Given the description of an element on the screen output the (x, y) to click on. 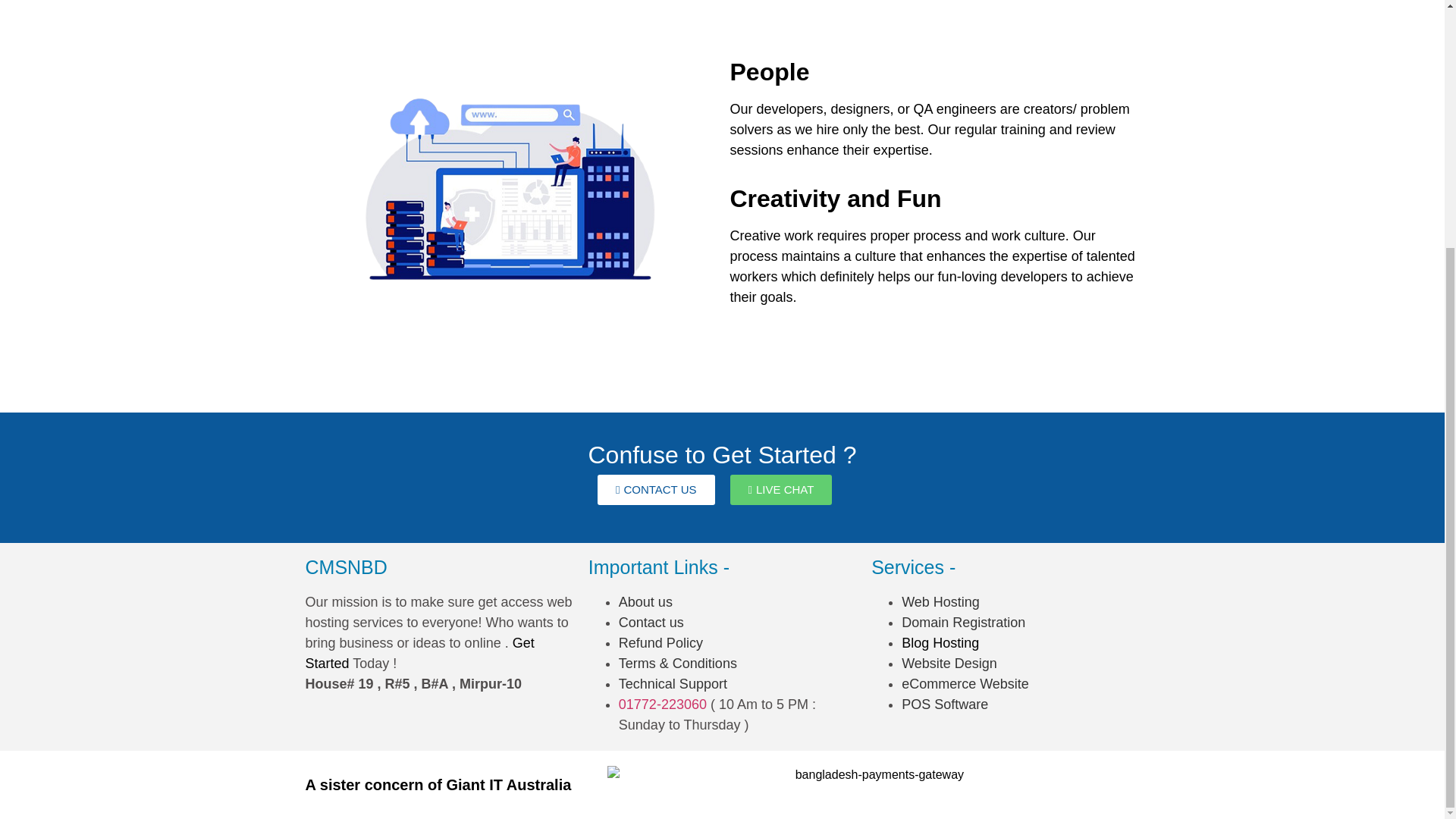
01772-223060 (662, 703)
Blog Hosting (939, 642)
Web Hosting (940, 601)
Website Design (949, 663)
Domain Registration (963, 622)
A sister concern of Giant IT Australia  (439, 784)
POS Software (944, 703)
CONTACT US (655, 490)
About us (645, 601)
Refund Policy (660, 642)
